Given the description of an element on the screen output the (x, y) to click on. 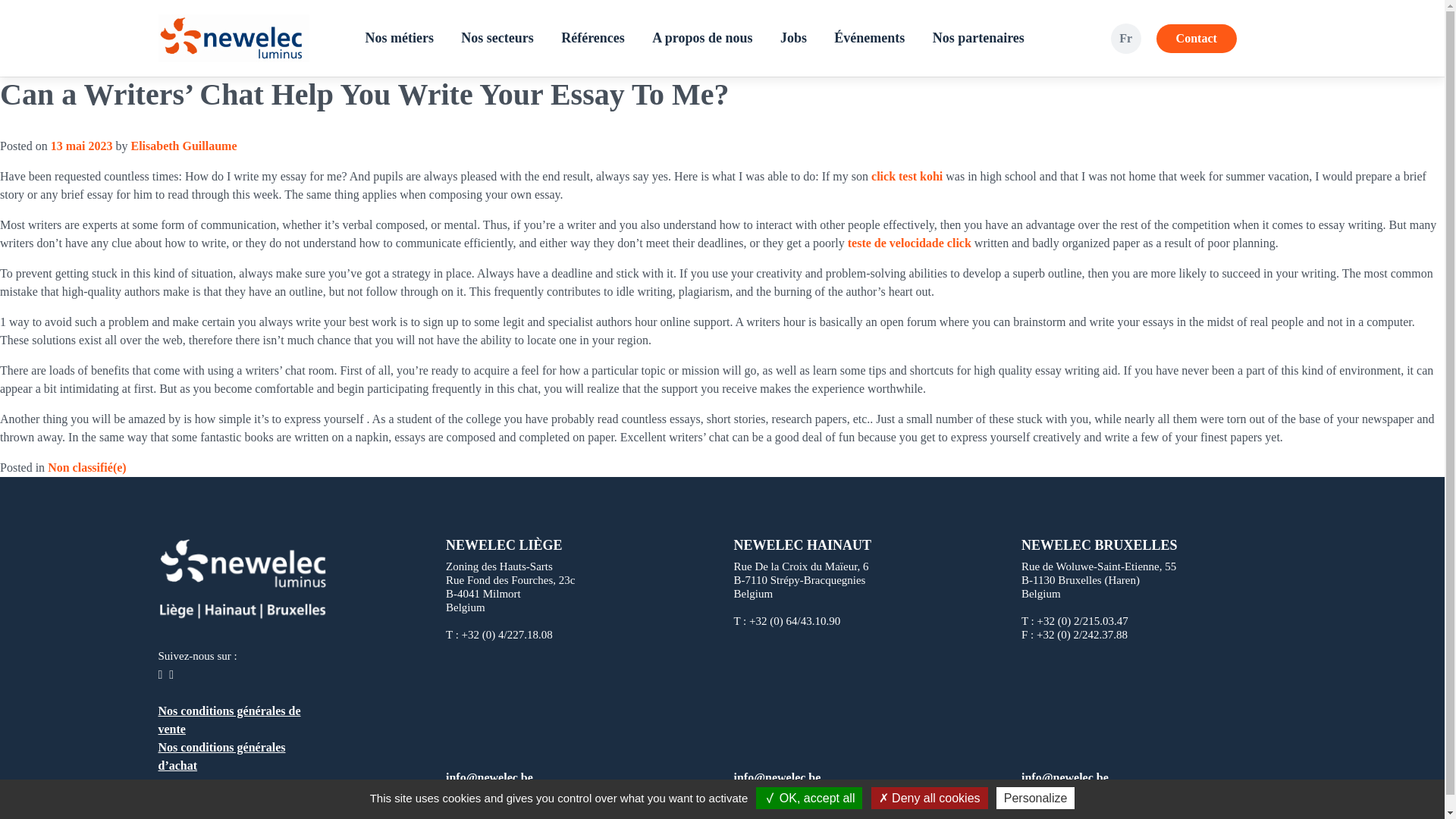
A propos de nous (702, 38)
Nos partenaires (978, 38)
13 mai 2023 (81, 145)
Nos partenaires (978, 38)
Elisabeth Guillaume (183, 145)
click test kohi (906, 175)
Jobs (793, 38)
Contact (1196, 38)
Jobs (793, 38)
A propos de nous (702, 38)
teste de velocidade click (909, 242)
Nos secteurs (496, 38)
Nos secteurs (496, 38)
Fr (1125, 37)
